Given the description of an element on the screen output the (x, y) to click on. 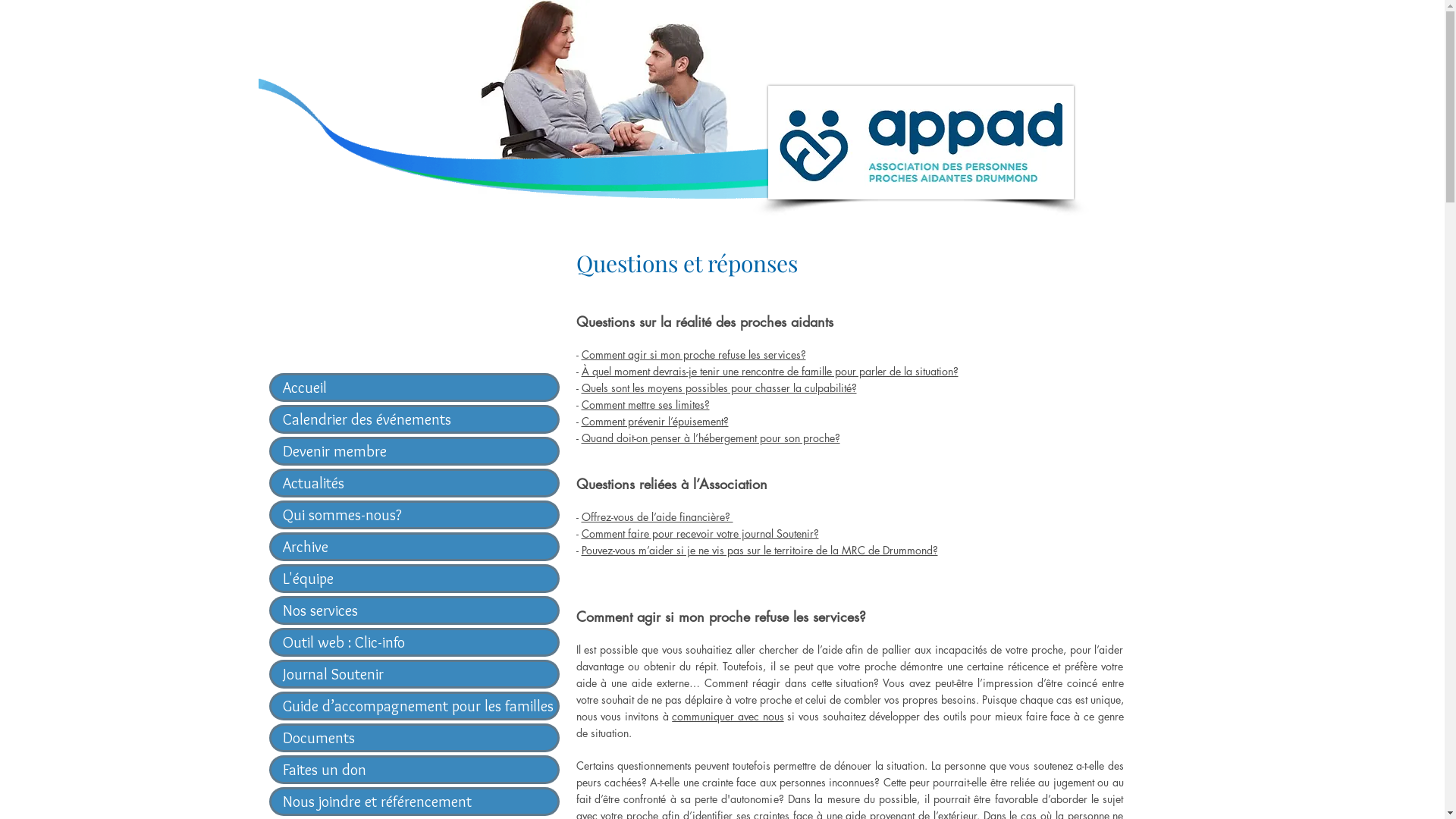
Archive Element type: text (414, 546)
Documents Element type: text (414, 737)
Comment agir si mon proche refuse les services? Element type: text (692, 354)
Comment mettre ses limites? Element type: text (644, 404)
Qui sommes-nous? Element type: text (414, 514)
Logo Appad final.jpg Element type: hover (920, 142)
Accueil Element type: text (414, 387)
Faites un don Element type: text (414, 769)
Journal Soutenir Element type: text (414, 674)
Nos services Element type: text (414, 610)
communiquer avec nous Element type: text (727, 716)
Devenir membre Element type: text (414, 451)
Comment faire pour recevoir votre journal Soutenir? Element type: text (699, 533)
Outil web : Clic-info Element type: text (414, 642)
